Given the description of an element on the screen output the (x, y) to click on. 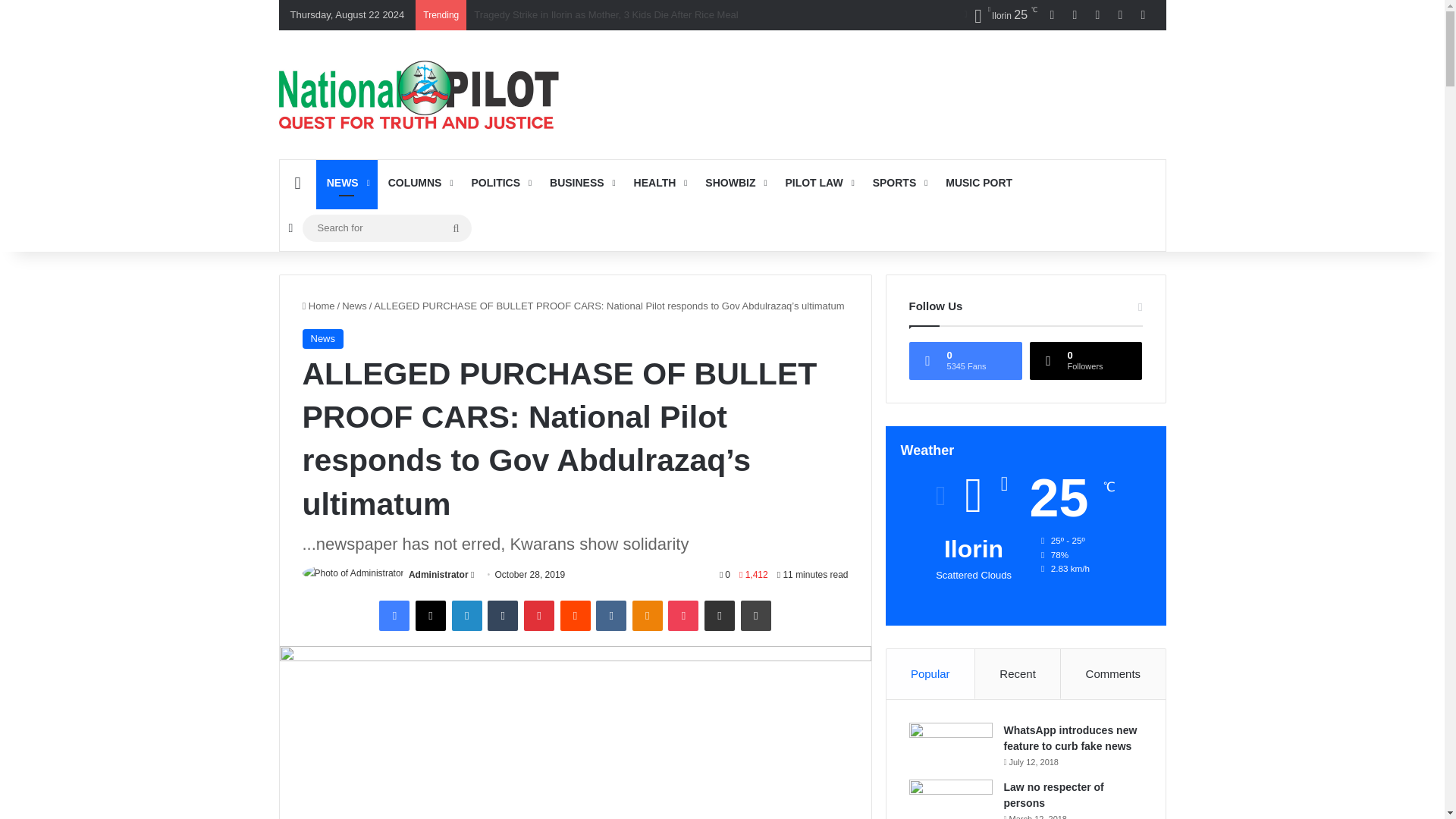
Reddit (574, 615)
Pinterest (539, 615)
LinkedIn (466, 615)
COLUMNS (419, 182)
Scattered Clouds (999, 15)
NEWS (346, 182)
X (429, 615)
Facebook (393, 615)
Tumblr (502, 615)
